Given the description of an element on the screen output the (x, y) to click on. 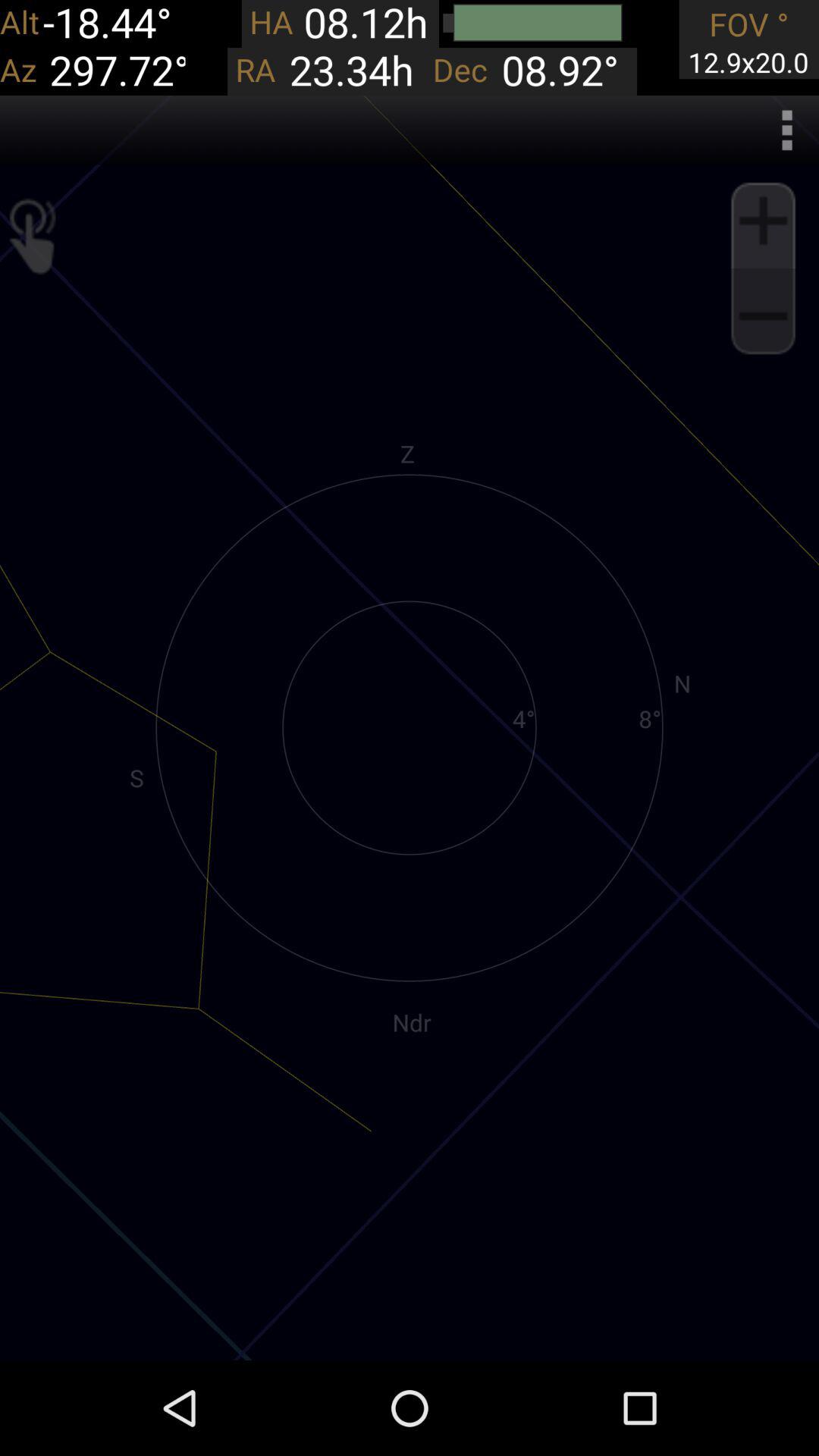
focus map (763, 220)
